Given the description of an element on the screen output the (x, y) to click on. 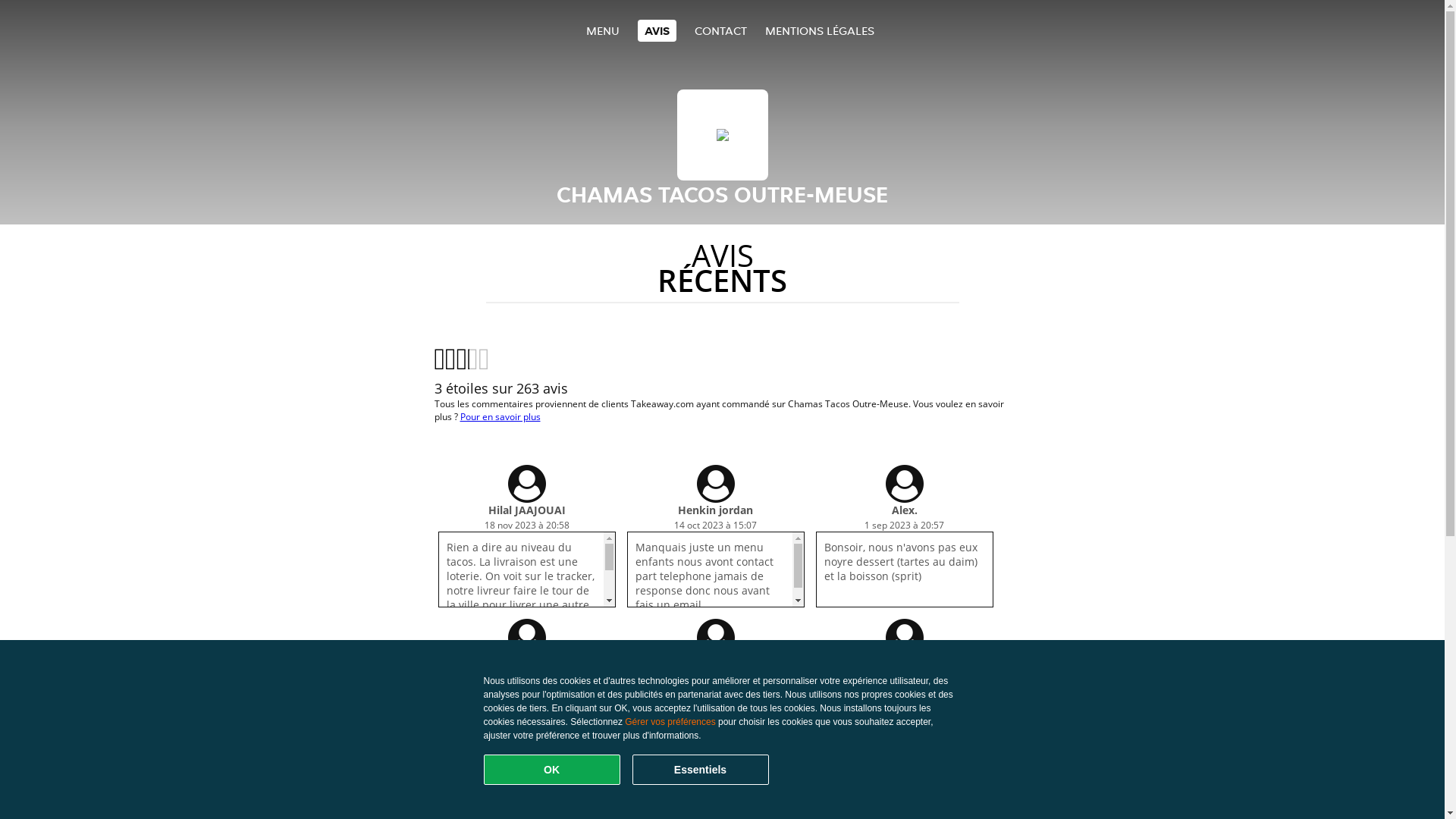
Essentiels Element type: text (700, 769)
CONTACT Element type: text (720, 30)
Pour en savoir plus Element type: text (499, 416)
OK Element type: text (551, 769)
AVIS Element type: text (656, 30)
MENU Element type: text (601, 30)
